Given the description of an element on the screen output the (x, y) to click on. 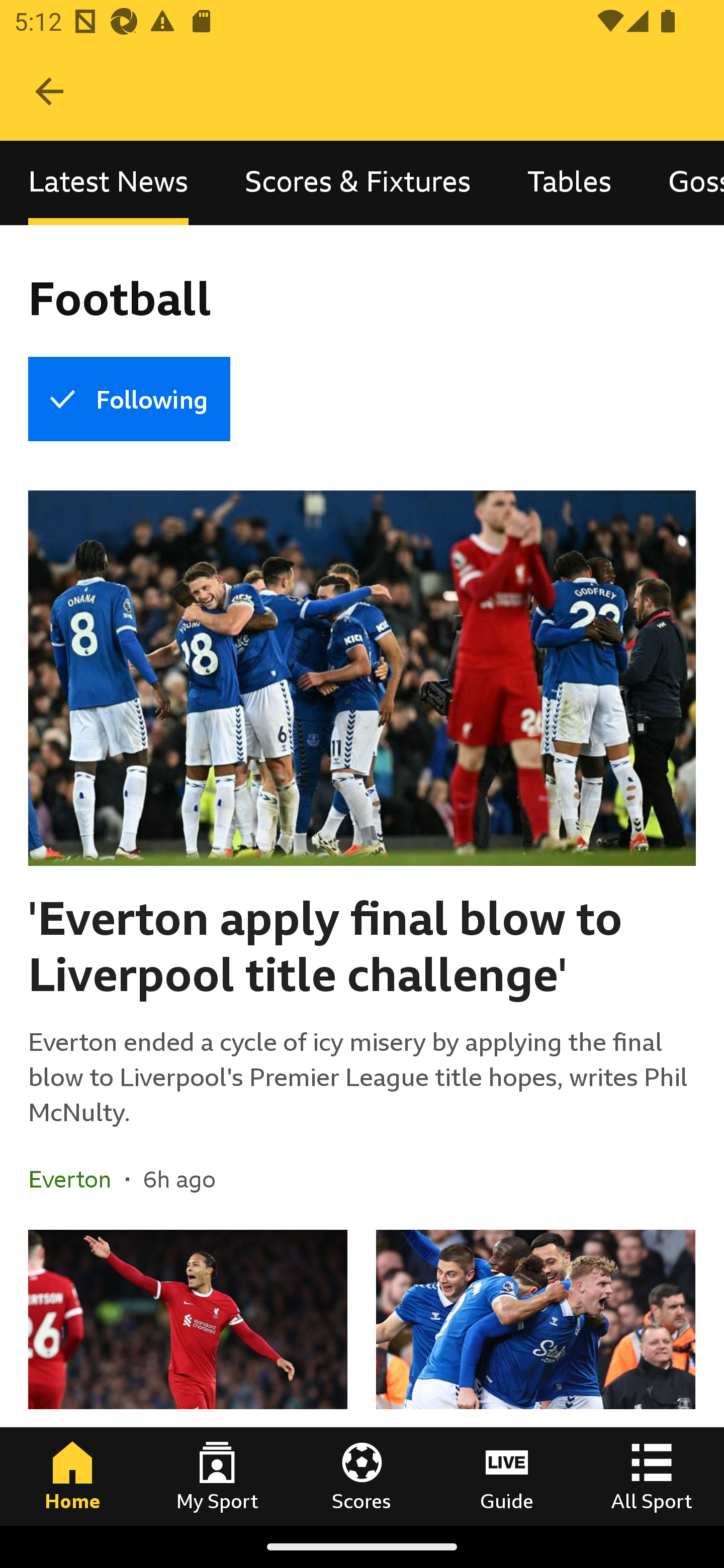
Navigate up (49, 91)
Latest News, selected Latest News (108, 183)
Scores & Fixtures (357, 183)
Tables (569, 183)
Everton In the section Everton (76, 1178)
Van Dijk questions desire of team-mates after loss (188, 1377)
My Sport (216, 1475)
Scores (361, 1475)
Guide (506, 1475)
All Sport (651, 1475)
